Given the description of an element on the screen output the (x, y) to click on. 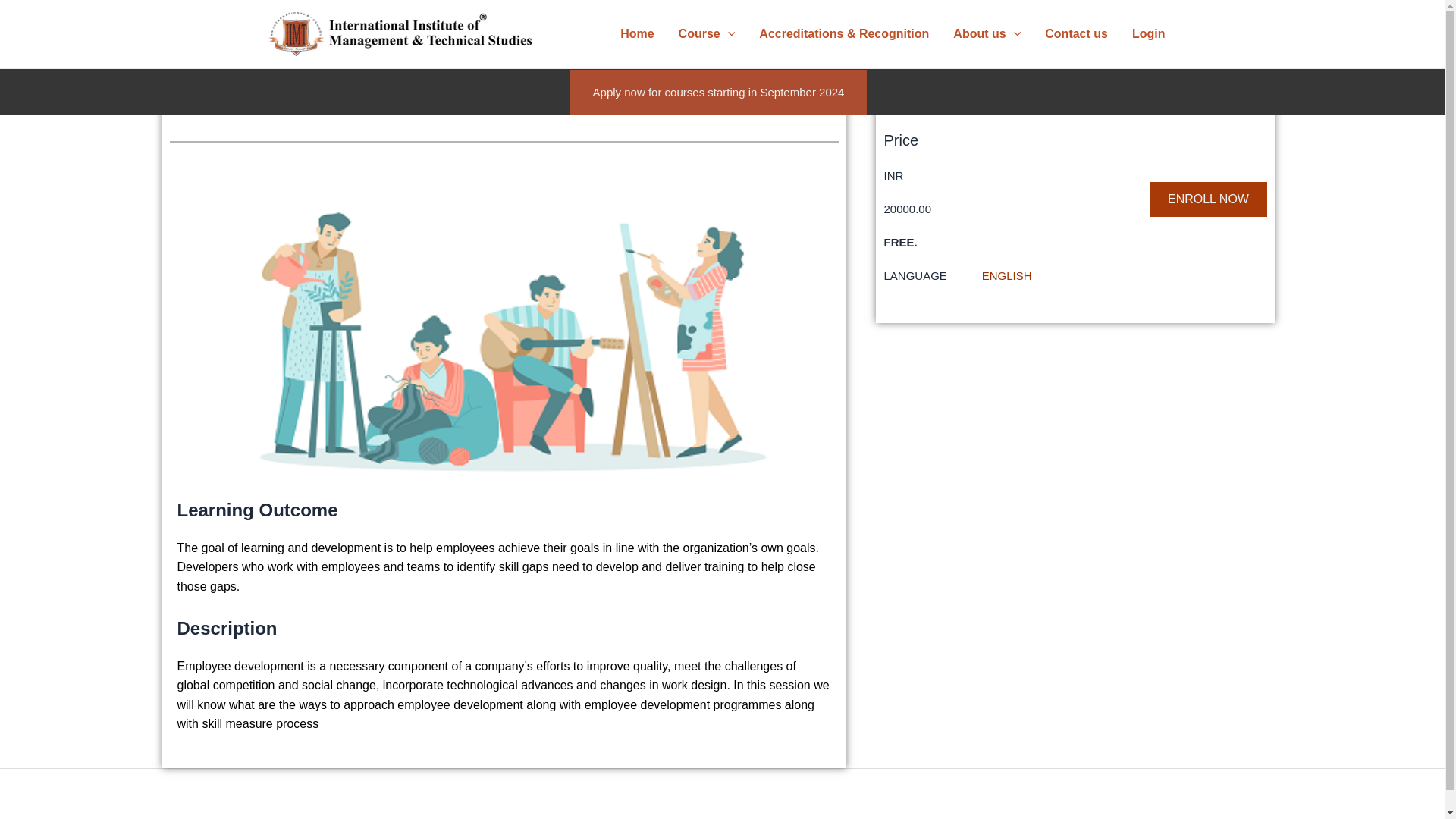
Login (1148, 33)
Course (707, 33)
Contact us (1075, 33)
Home (636, 33)
Apply now for courses starting in September 2024 (718, 91)
About us (986, 33)
